Given the description of an element on the screen output the (x, y) to click on. 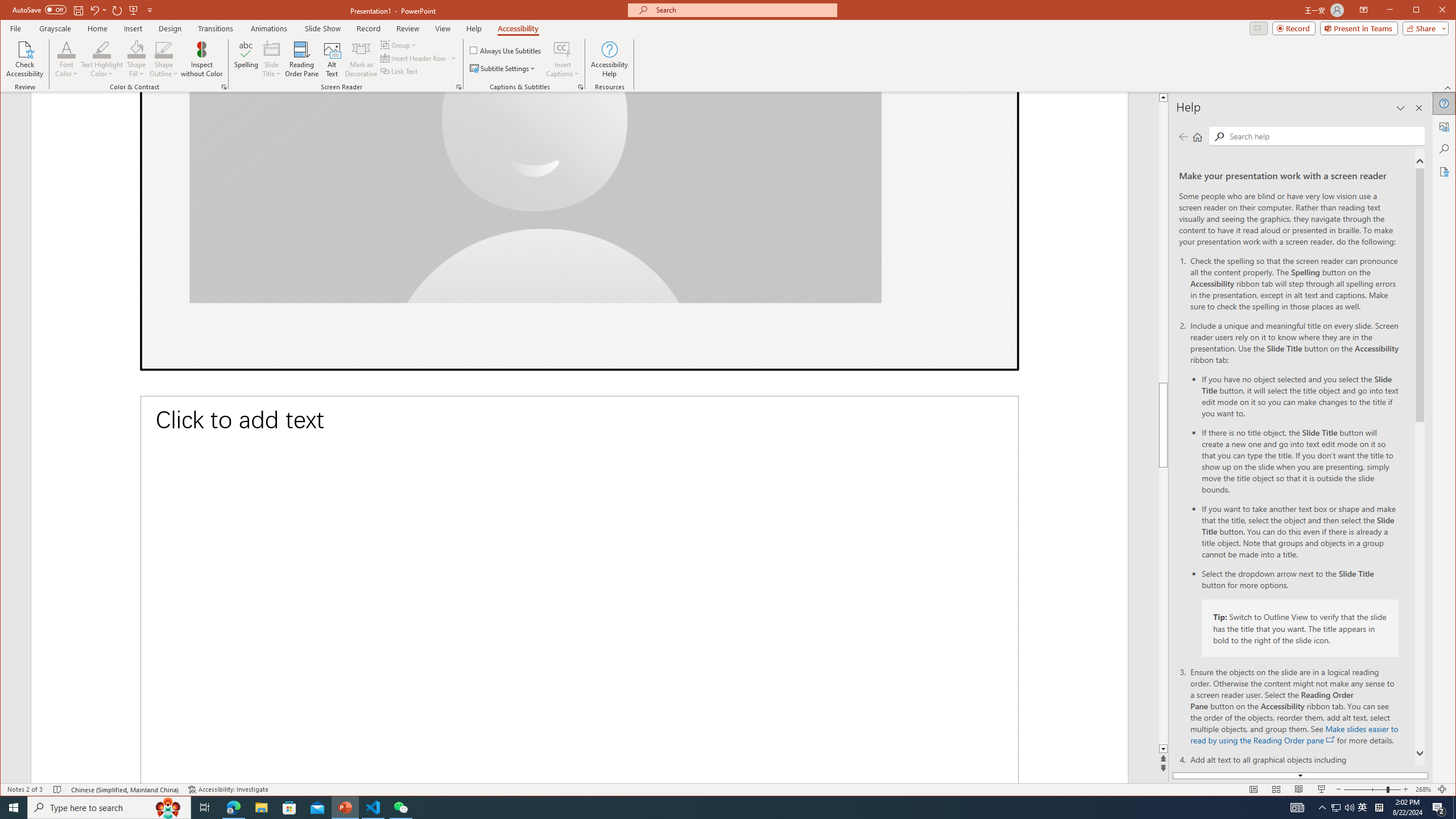
openinnewwindow (1330, 739)
Always Use Subtitles (505, 49)
Mark as Decorative (360, 59)
